Given the description of an element on the screen output the (x, y) to click on. 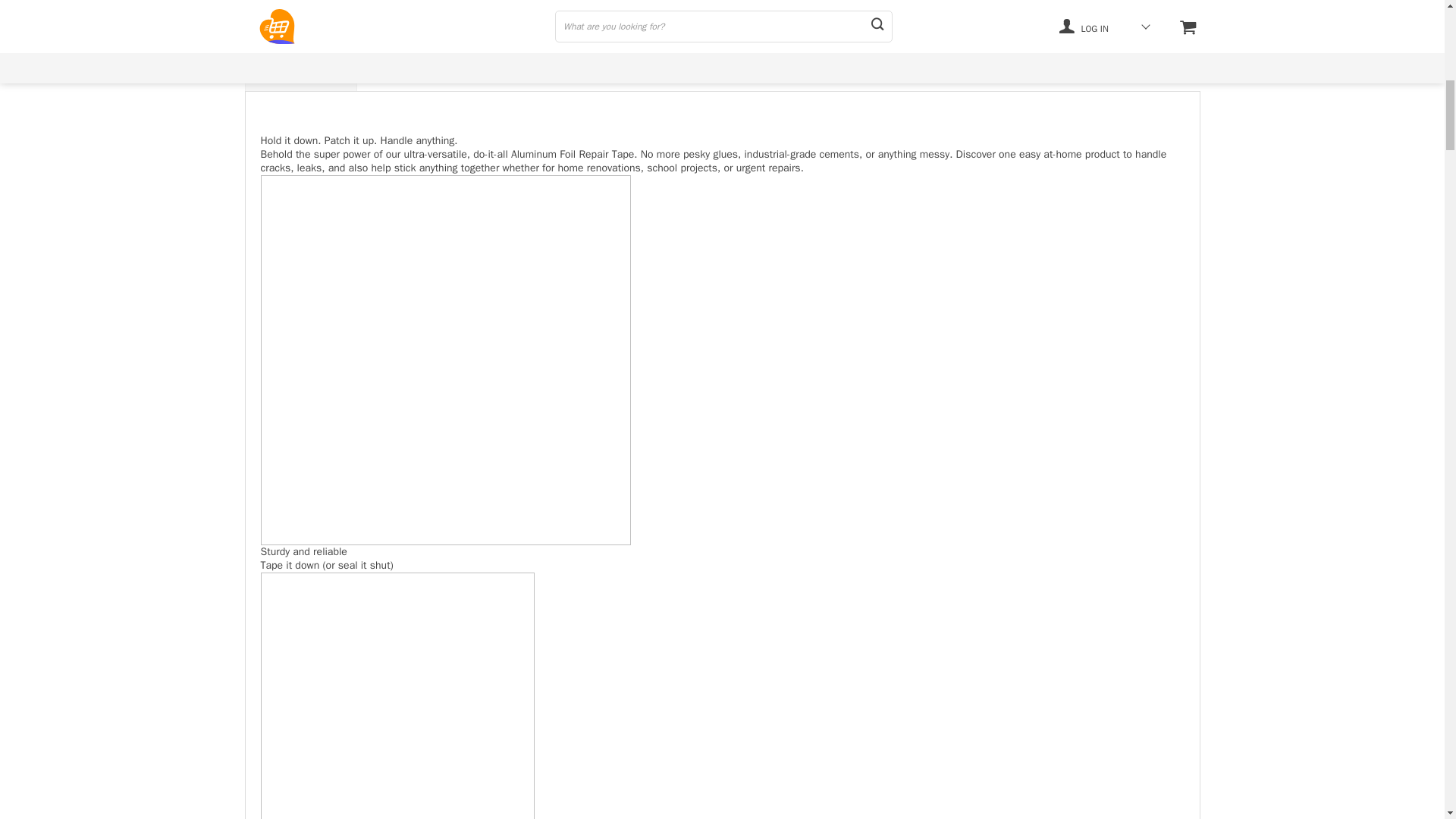
7955-e49169c64476e89165ca4d7f933b42dc-640x640 1 (397, 695)
